Given the description of an element on the screen output the (x, y) to click on. 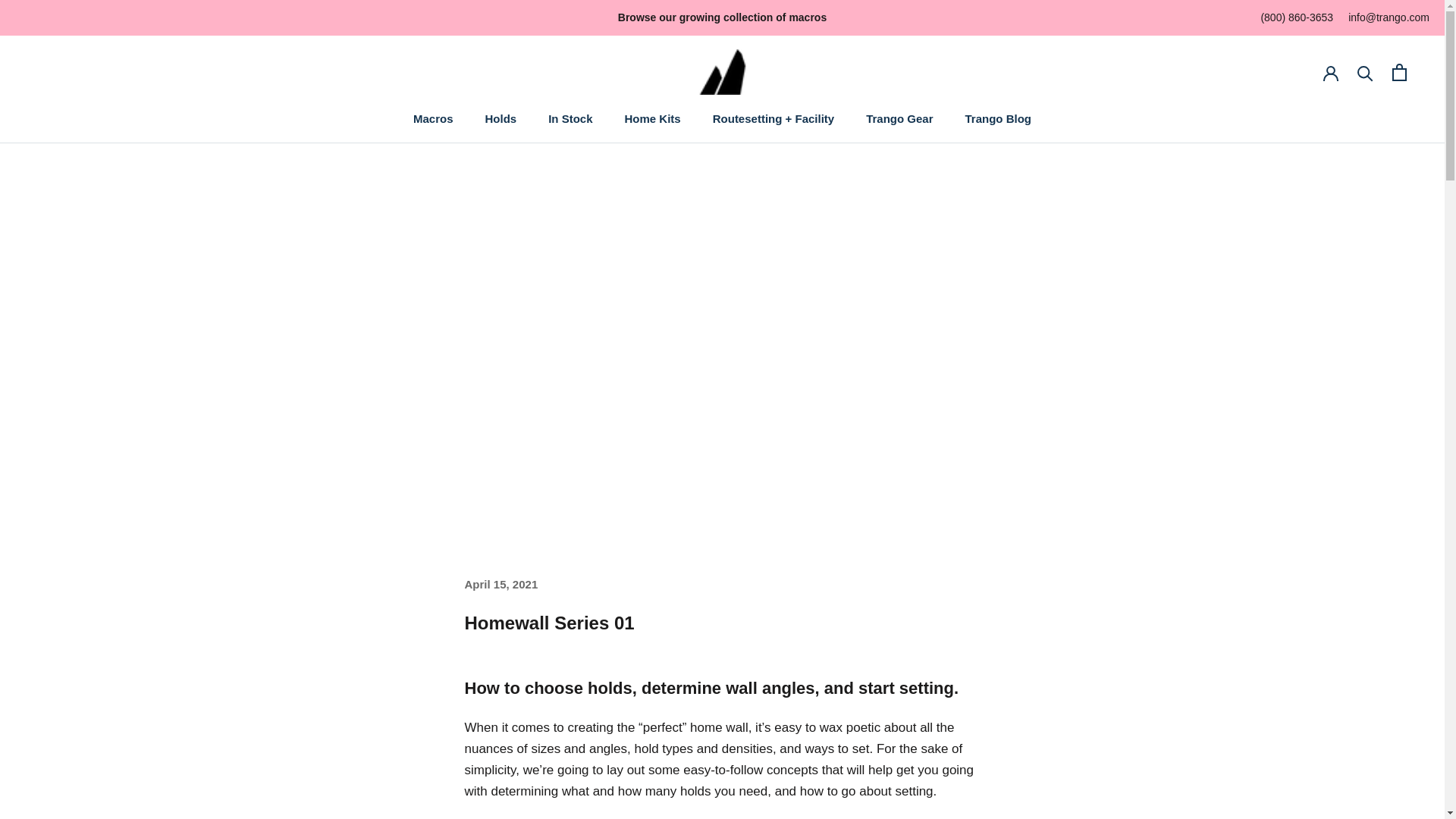
Browse our growing collection of macros (432, 118)
Holds (722, 17)
Trango Blog (500, 118)
